Given the description of an element on the screen output the (x, y) to click on. 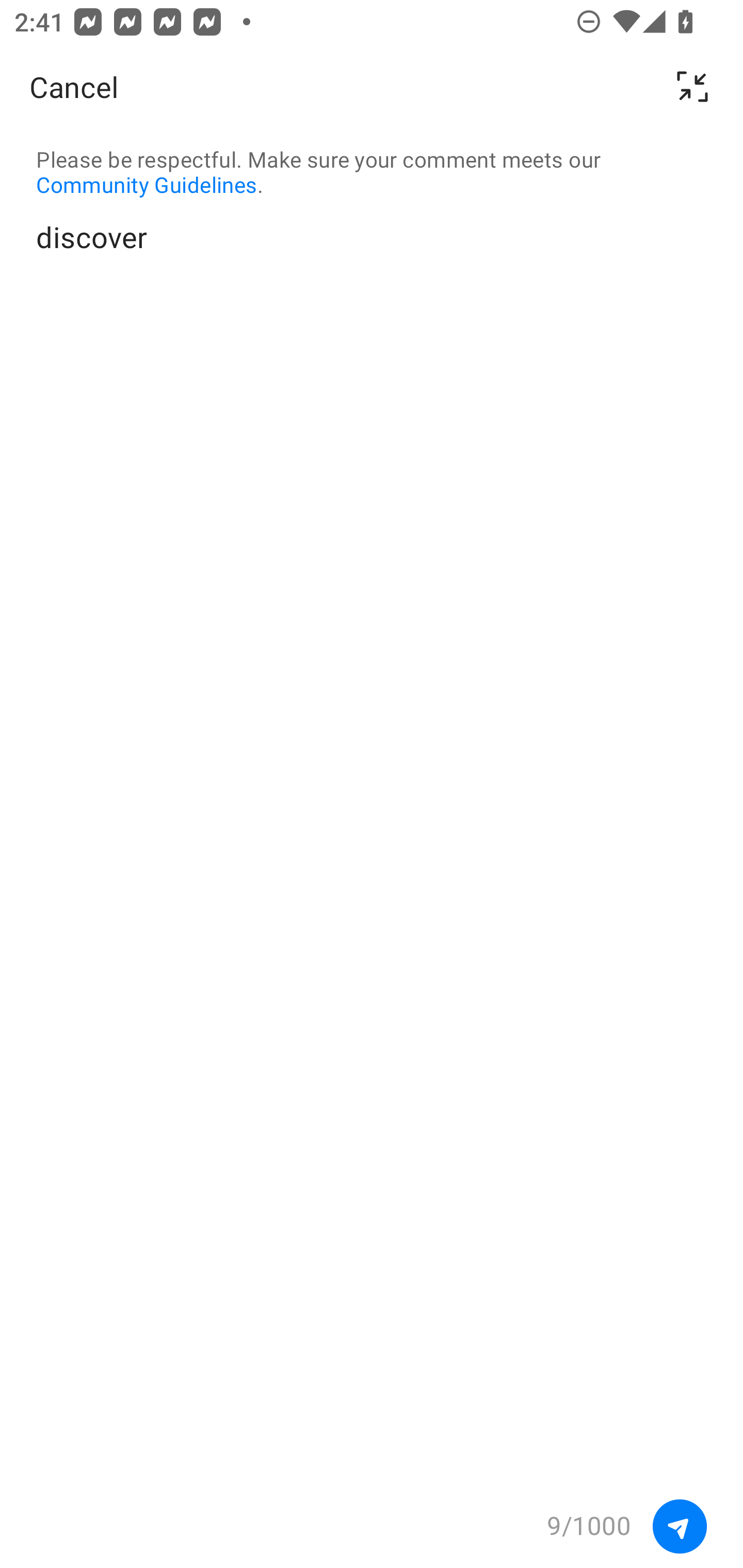
Cancel (73, 86)
discover
 (371, 850)
